Given the description of an element on the screen output the (x, y) to click on. 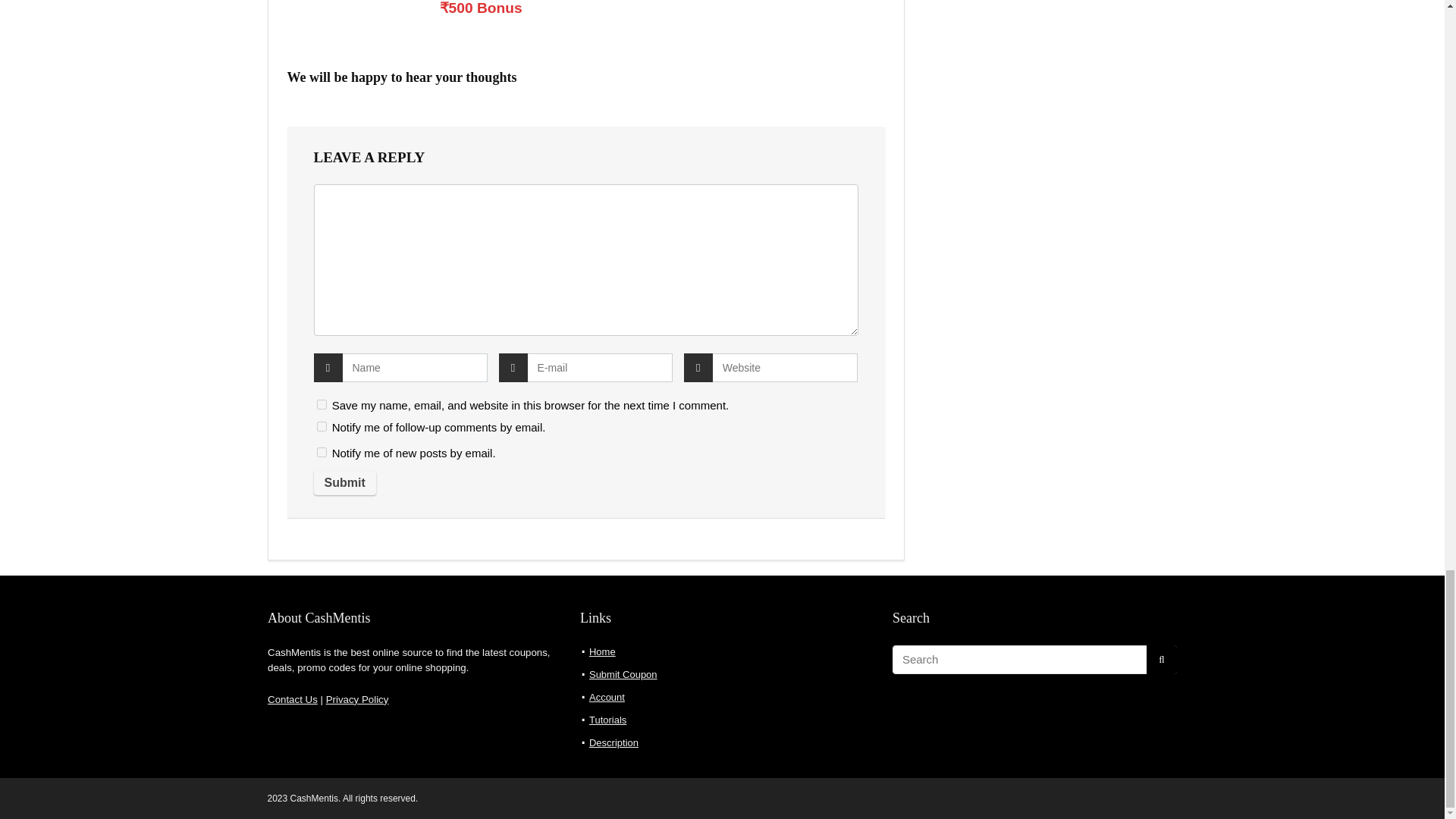
Submit (309, 529)
subscribe (294, 501)
Submit (309, 529)
yes (294, 460)
subscribe (294, 474)
